Given the description of an element on the screen output the (x, y) to click on. 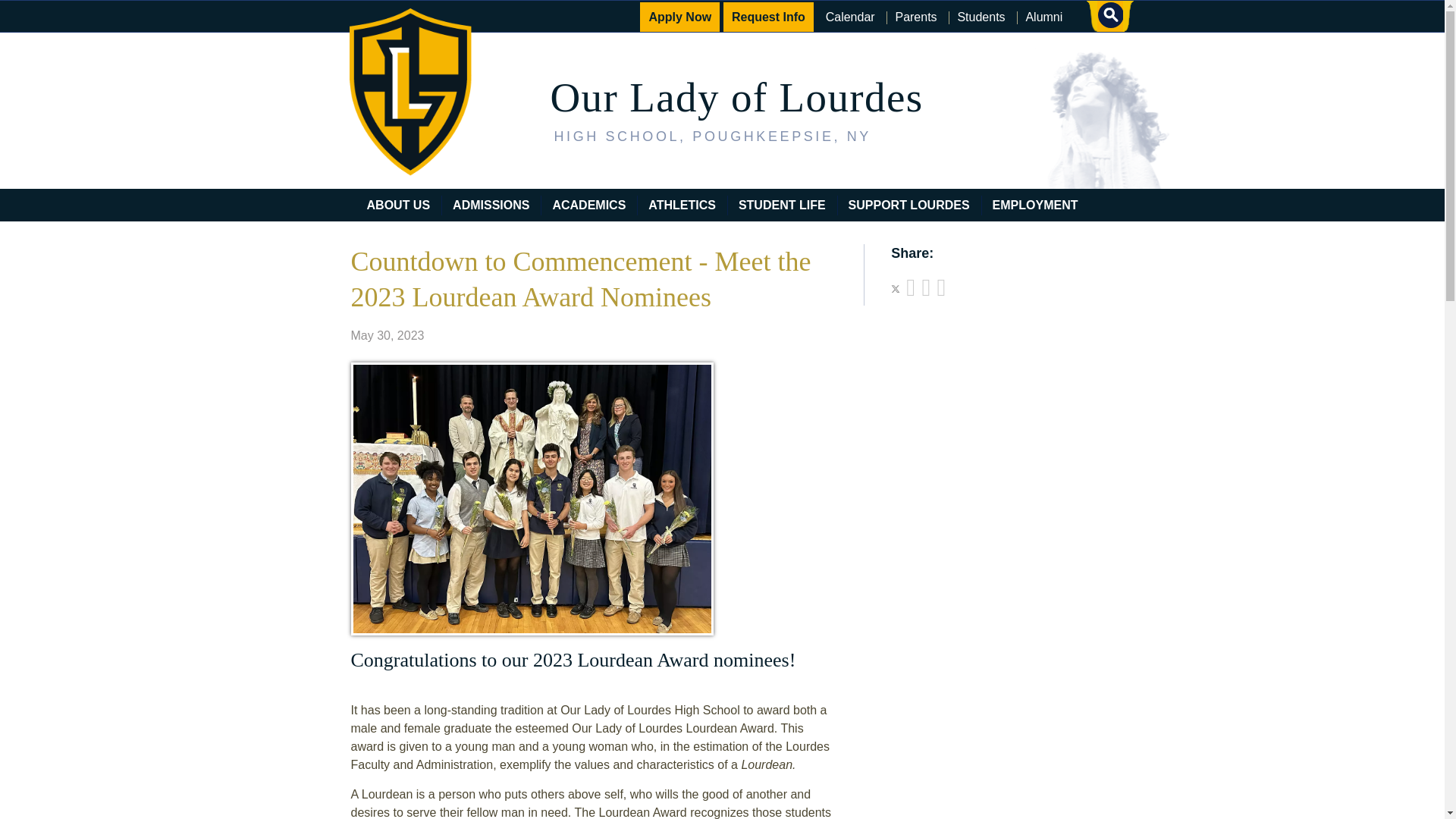
Request Info (768, 16)
Calendar (849, 16)
Alumni (1043, 16)
Students (981, 16)
Our Lady of Lourdes (736, 97)
Apply Now (679, 16)
Parents (915, 16)
ABOUT US (398, 205)
ADMISSIONS (490, 205)
ACADEMICS (588, 205)
